Given the description of an element on the screen output the (x, y) to click on. 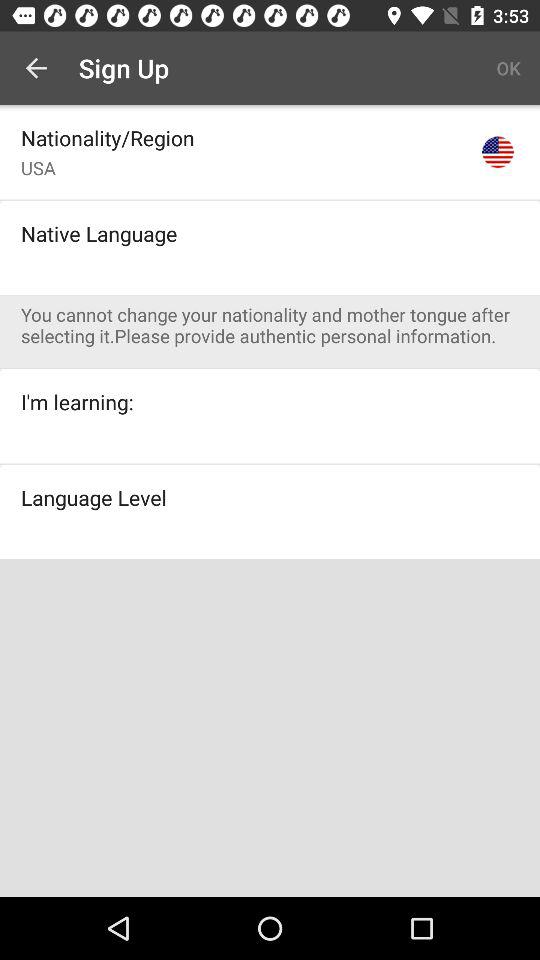
choose the nationality/region item (107, 137)
